Given the description of an element on the screen output the (x, y) to click on. 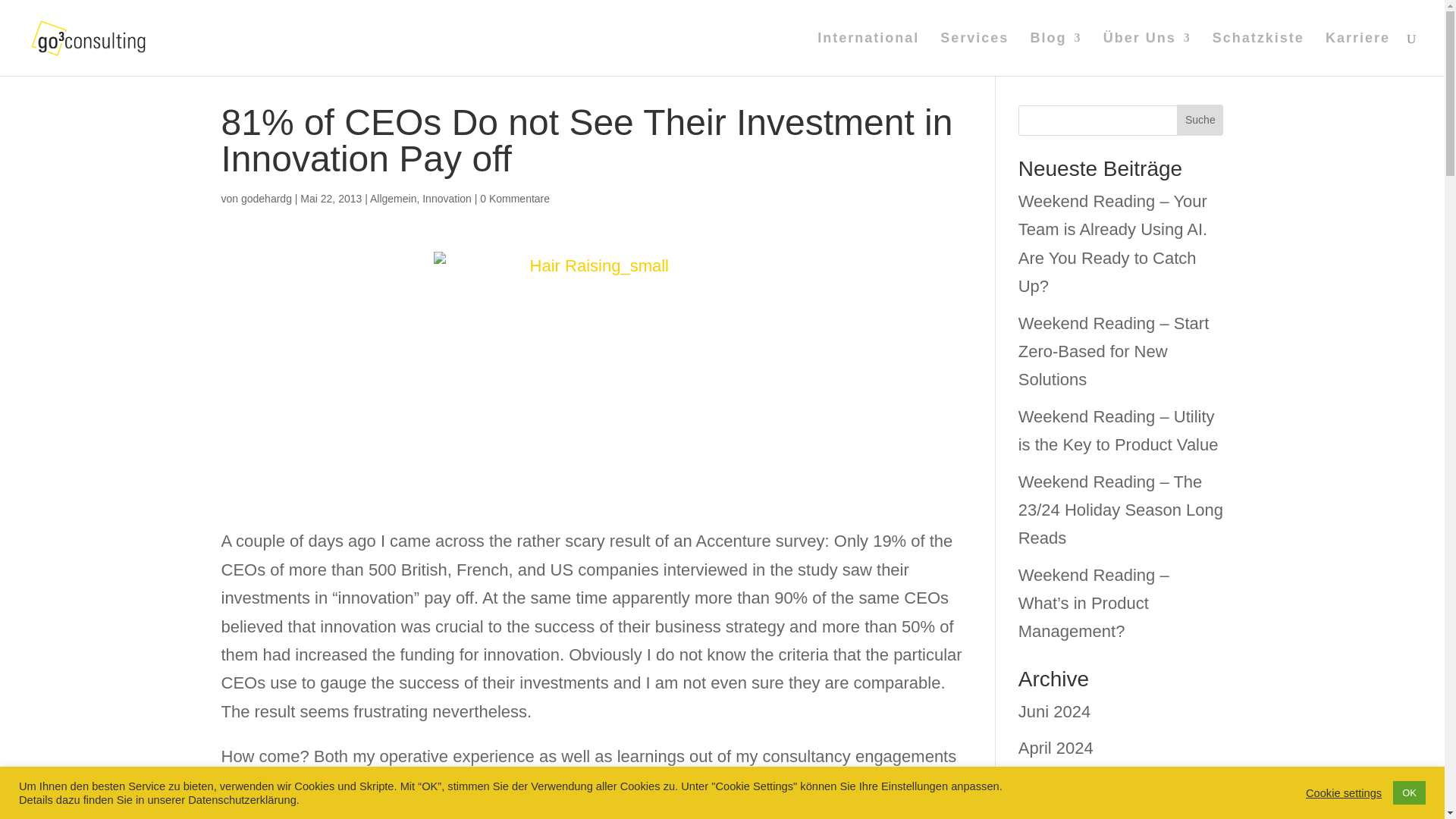
0 Kommentare (515, 198)
April 2024 (1055, 747)
Blog (1055, 54)
Karriere (1357, 54)
Februar 2024 (1067, 784)
godehardg (266, 198)
Allgemein (392, 198)
Dezember 2023 (1077, 815)
Juni 2024 (1053, 711)
Suche (1199, 119)
Suche (1199, 119)
Services (974, 54)
Schatzkiste (1258, 54)
International (867, 54)
Innovation (446, 198)
